Given the description of an element on the screen output the (x, y) to click on. 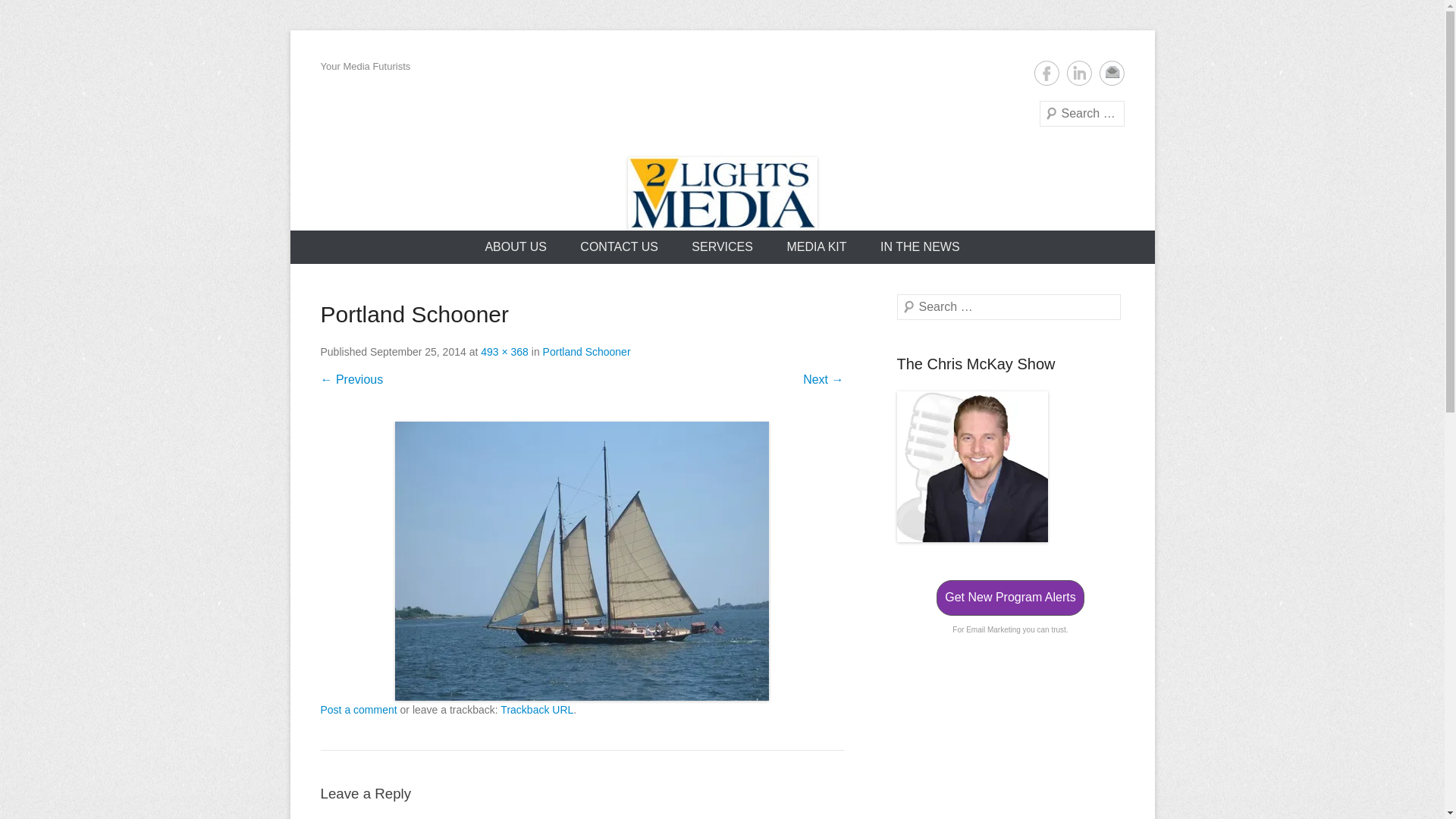
Facebook Element type: text (1046, 72)
ABOUT US Element type: text (515, 246)
SERVICES Element type: text (722, 246)
Trackback URL Element type: text (536, 709)
Portland Schooner Element type: text (586, 351)
Portland Schooner Element type: hover (581, 560)
Skip to content Element type: text (289, 29)
Post a comment Element type: text (358, 709)
Email Element type: text (1111, 72)
MEDIA KIT Element type: text (816, 246)
CONTACT US Element type: text (618, 246)
IN THE NEWS Element type: text (920, 246)
LinkedIn Element type: text (1078, 72)
Search Element type: text (32, 15)
Get New Program Alerts Element type: text (1010, 597)
